Given the description of an element on the screen output the (x, y) to click on. 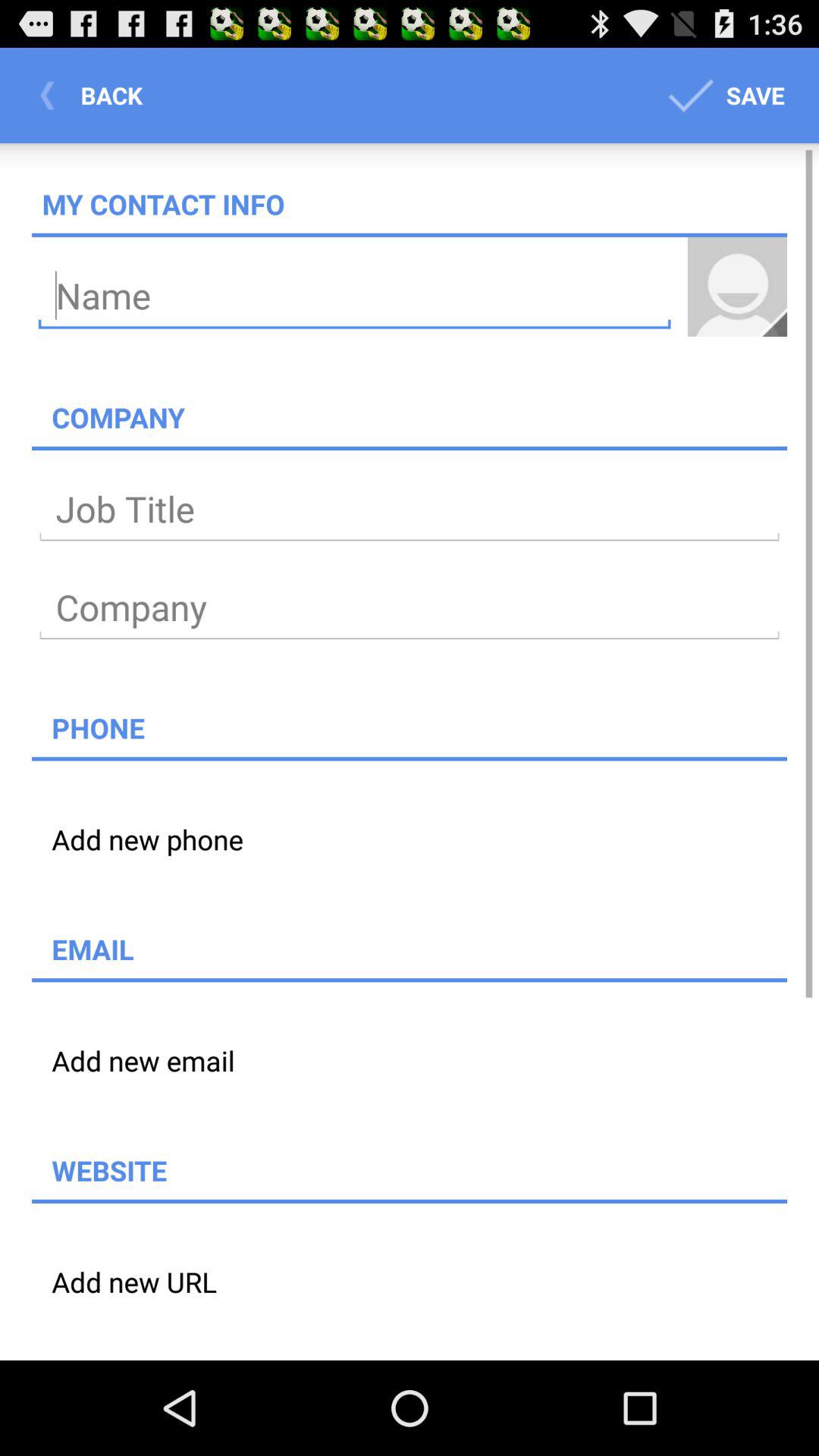
select back button (95, 95)
